Given the description of an element on the screen output the (x, y) to click on. 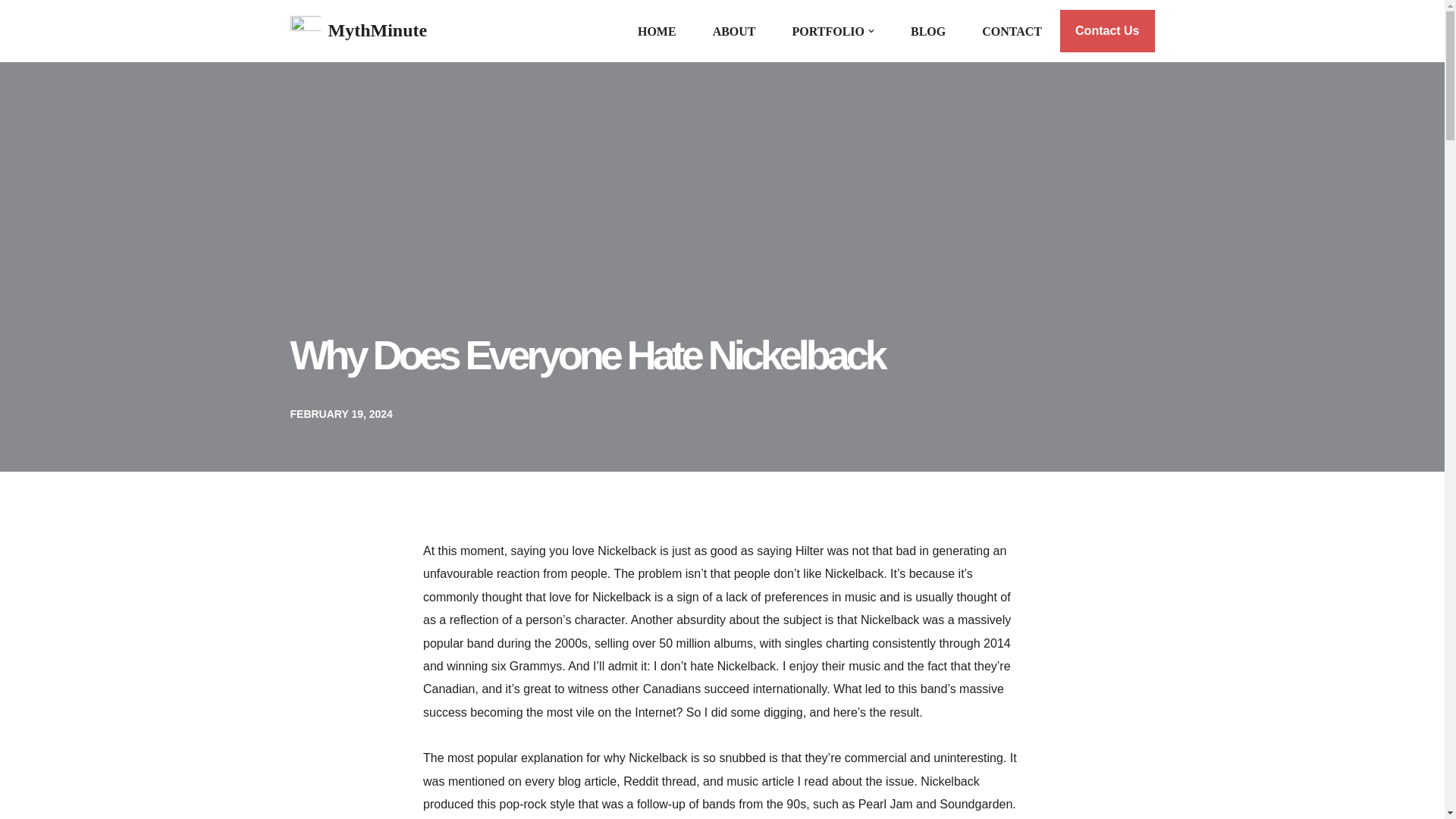
CONTACT (1011, 31)
PORTFOLIO (828, 31)
MythMinute (357, 30)
BLOG (927, 31)
ABOUT (734, 31)
HOME (657, 31)
Skip to content (11, 31)
Contact Us (1106, 30)
